Given the description of an element on the screen output the (x, y) to click on. 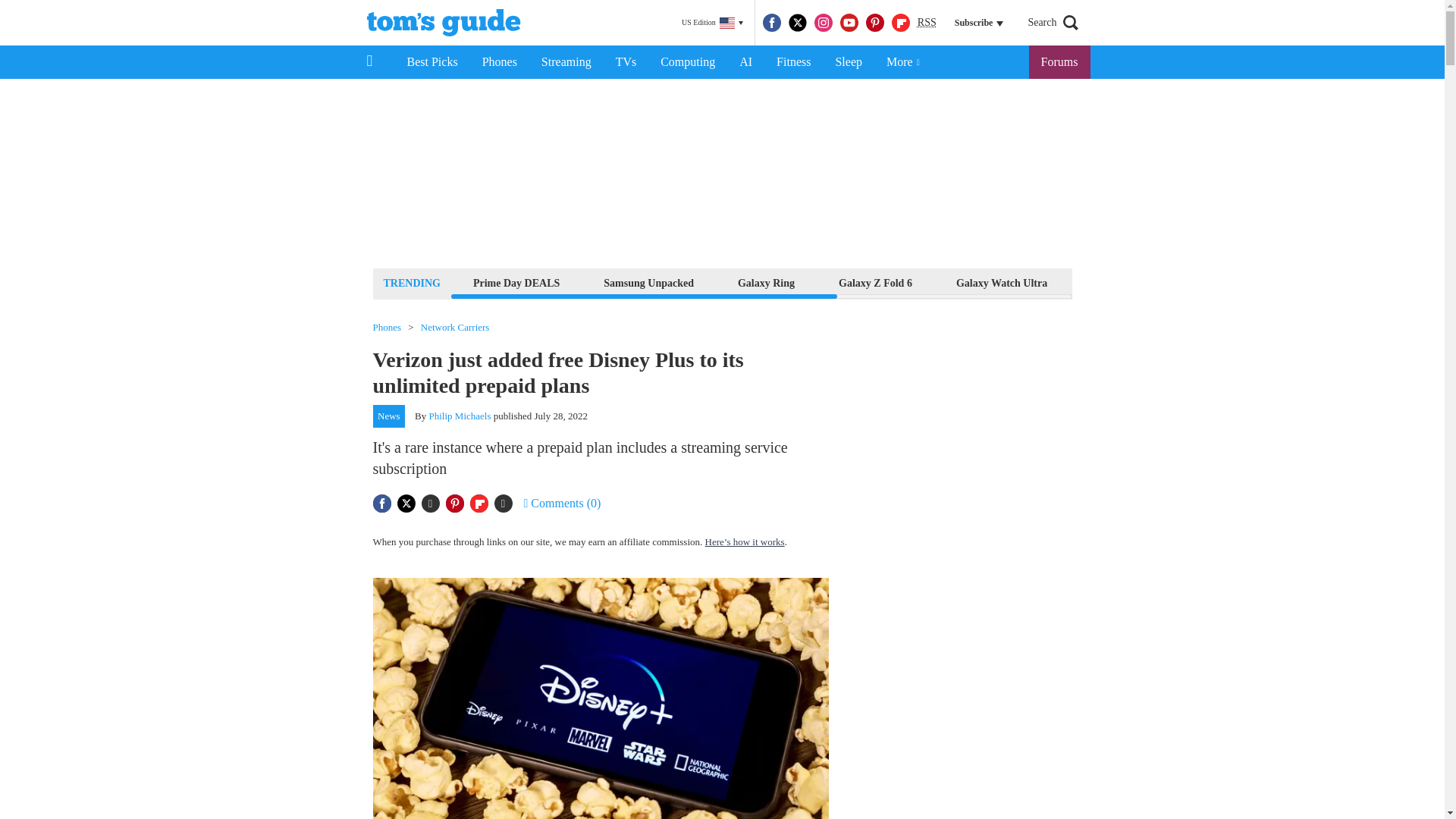
AI (745, 61)
Sleep (848, 61)
Fitness (793, 61)
Best Picks (431, 61)
US Edition (712, 22)
Phones (499, 61)
Streaming (566, 61)
TVs (626, 61)
Computing (686, 61)
Really Simple Syndication (926, 21)
RSS (926, 22)
